Given the description of an element on the screen output the (x, y) to click on. 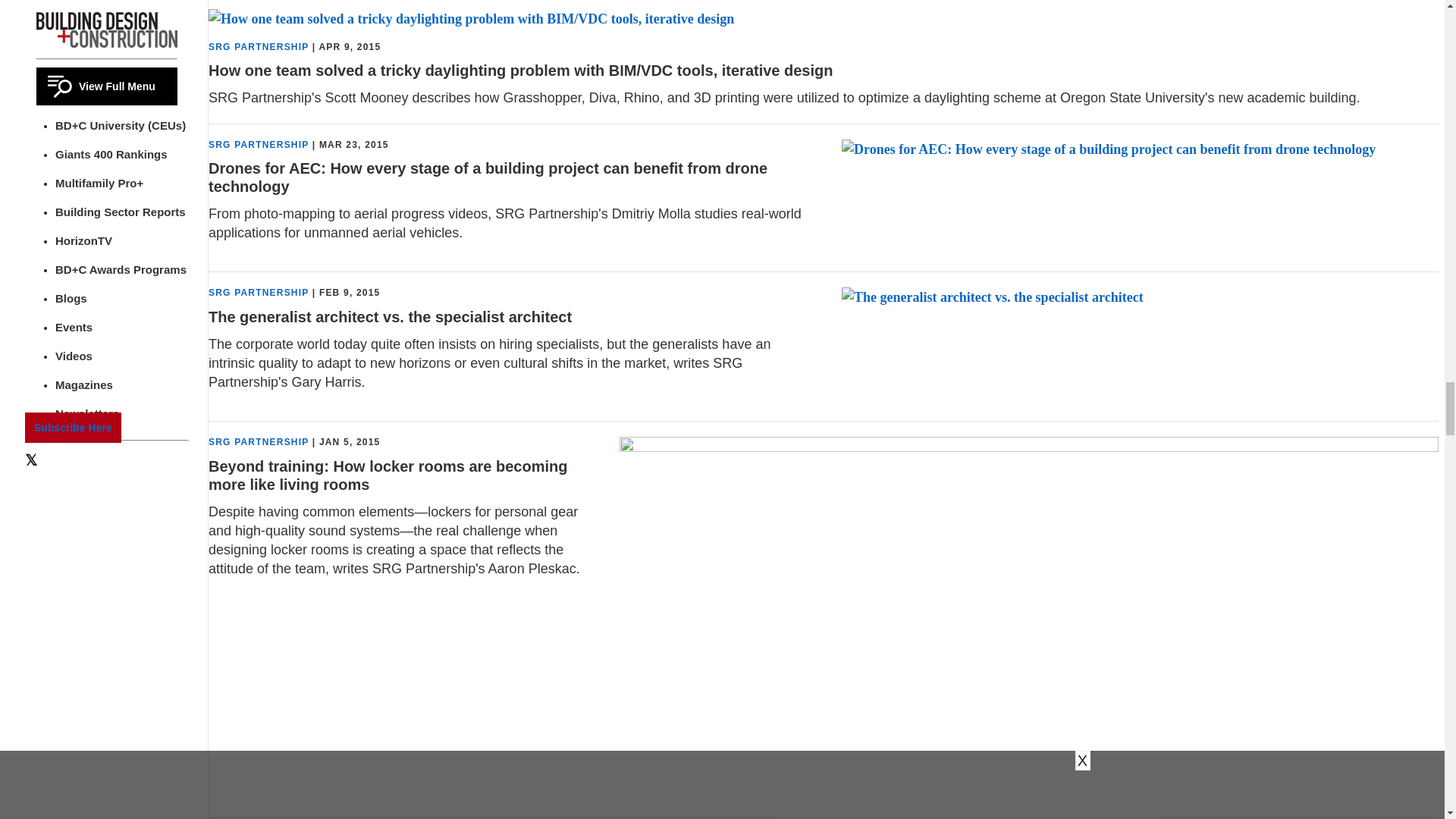
The generalist architect vs. the specialist architect (991, 297)
